Given the description of an element on the screen output the (x, y) to click on. 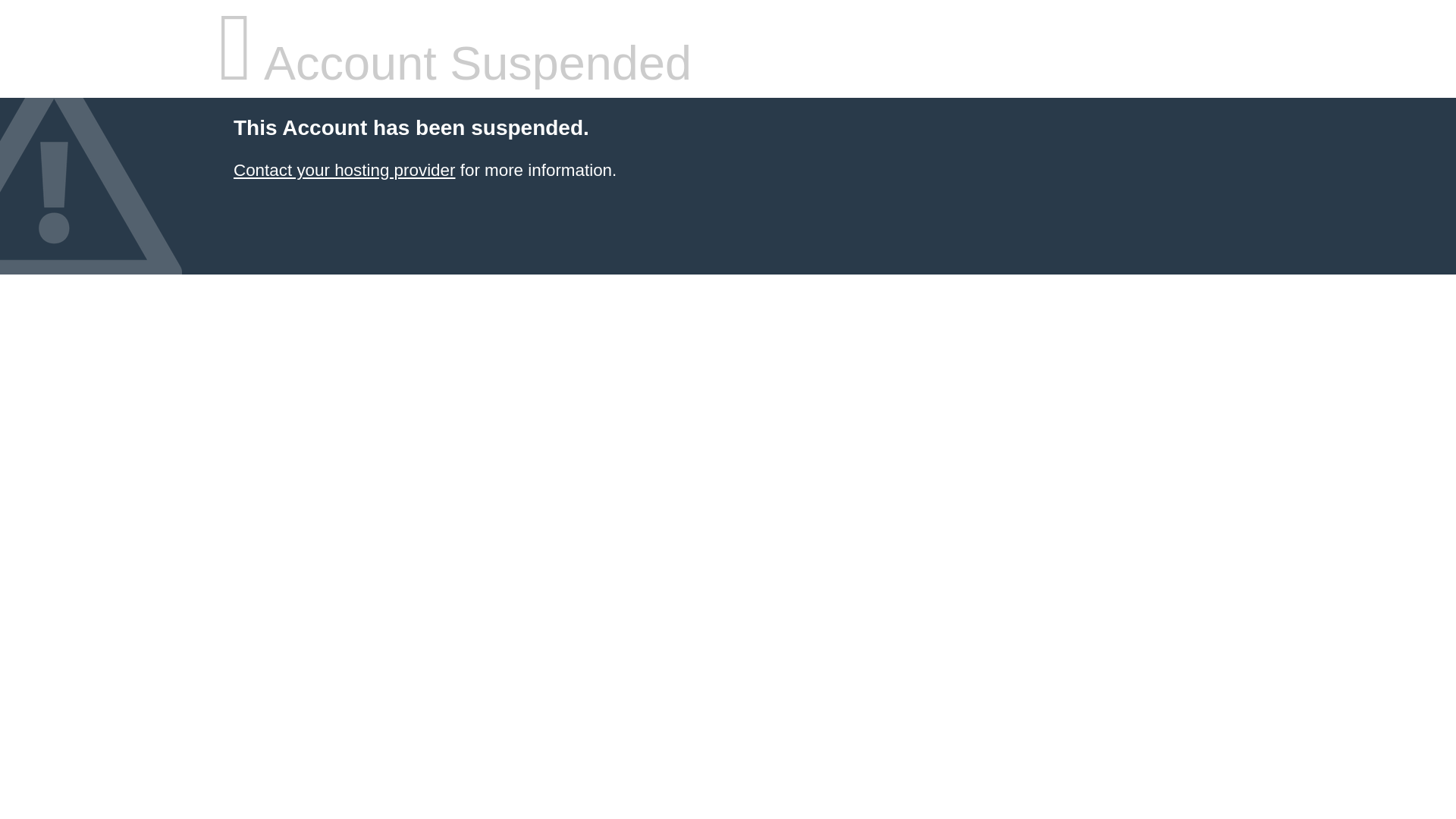
Contact your hosting provider (343, 169)
